Given the description of an element on the screen output the (x, y) to click on. 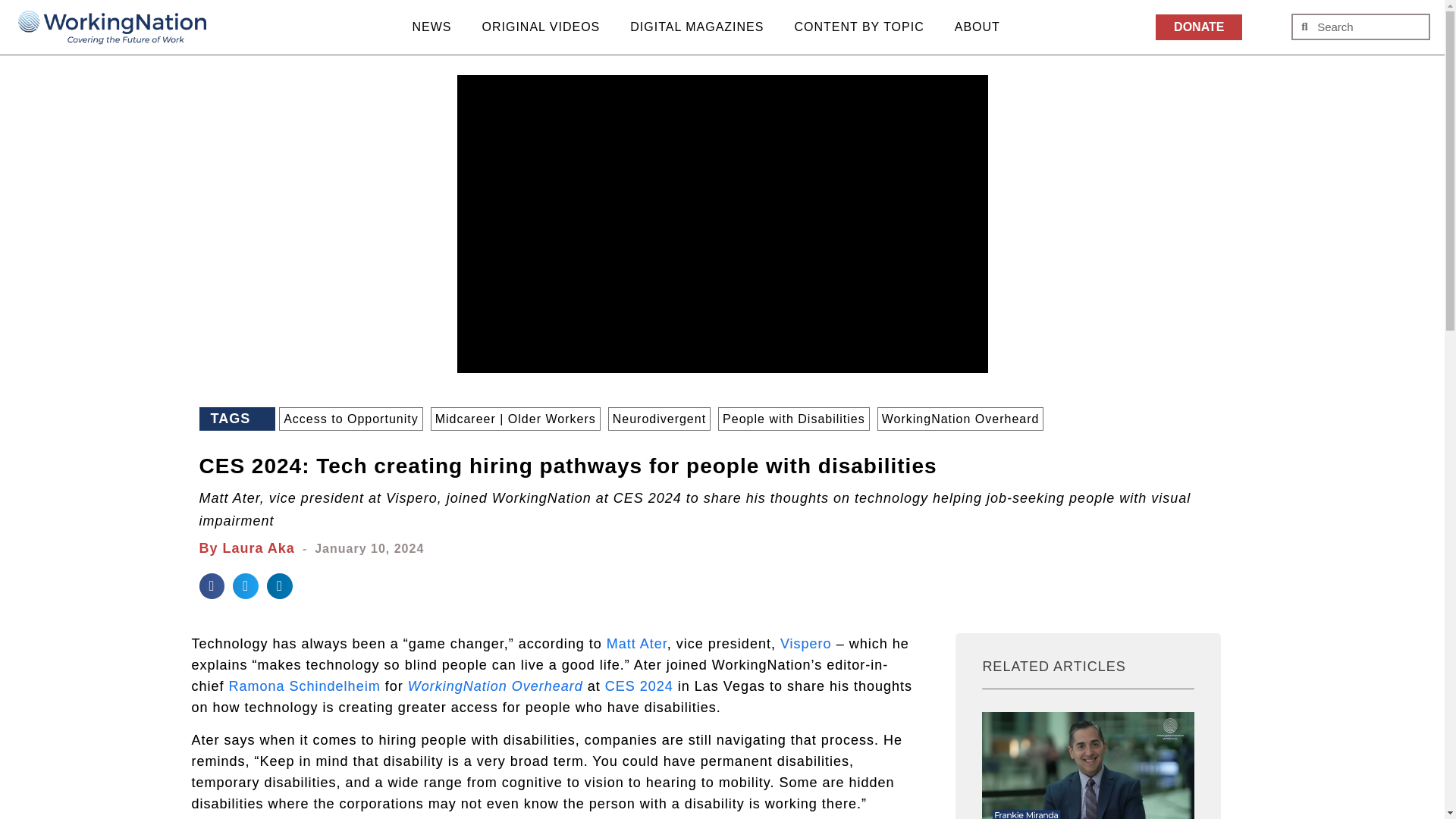
ORIGINAL VIDEOS (541, 27)
CONTENT BY TOPIC (858, 27)
DIGITAL MAGAZINES (696, 27)
WNlogoBluewithtagline (112, 28)
NEWS (432, 27)
ABOUT (977, 27)
